Given the description of an element on the screen output the (x, y) to click on. 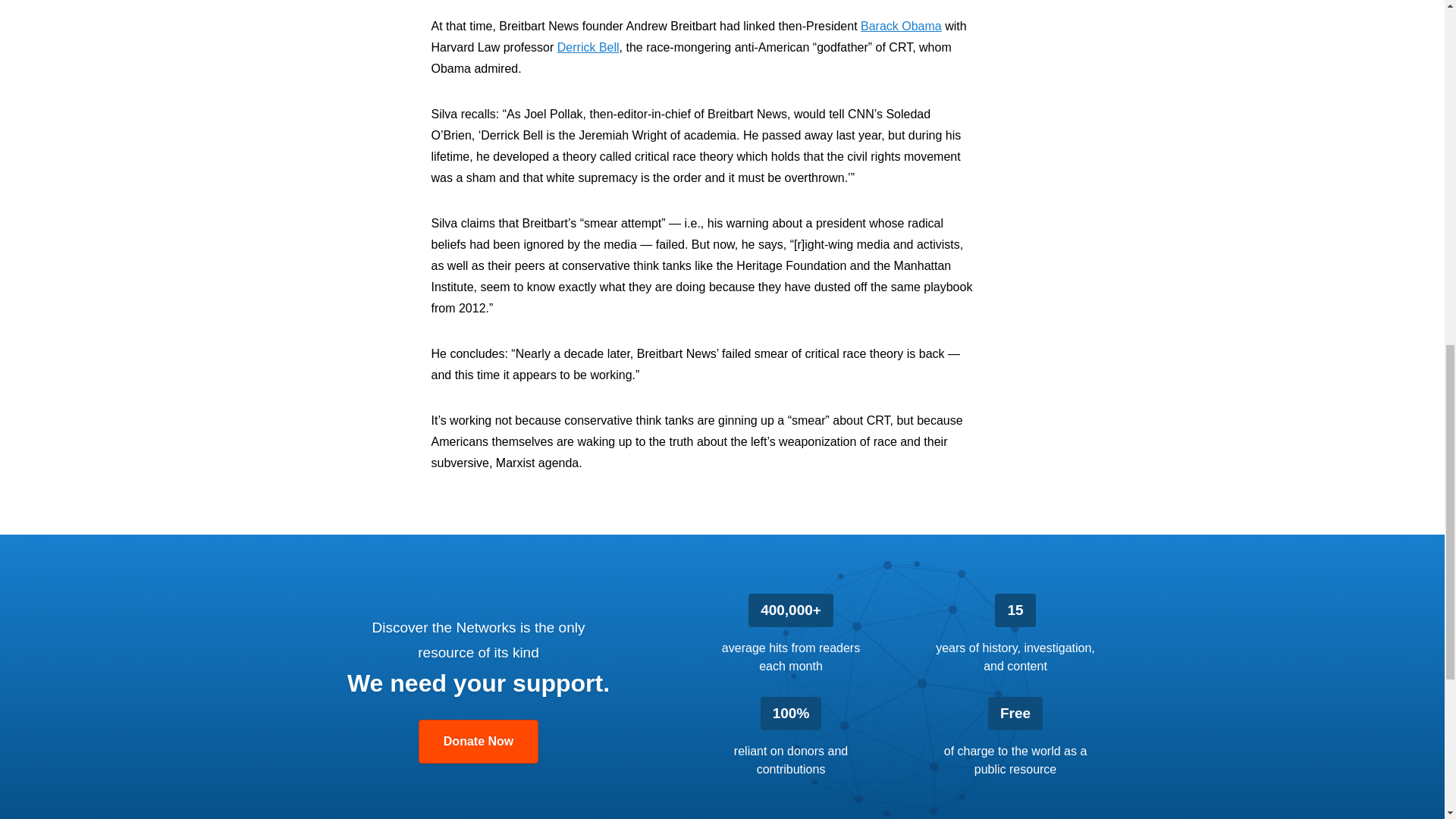
Barack Obama (901, 25)
Donate Now (478, 741)
Derrick Bell (588, 47)
